Given the description of an element on the screen output the (x, y) to click on. 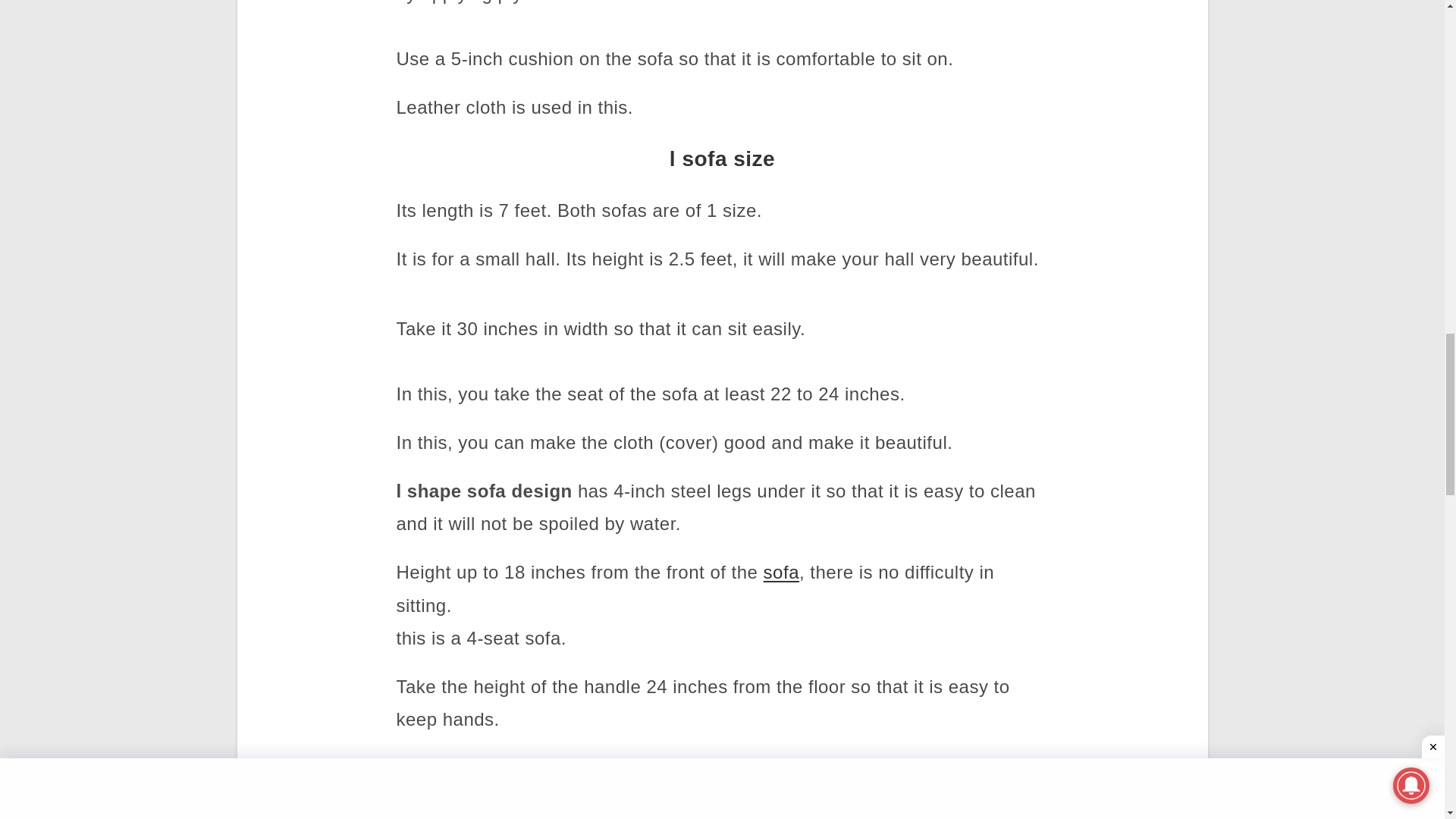
sofa (780, 571)
